Given the description of an element on the screen output the (x, y) to click on. 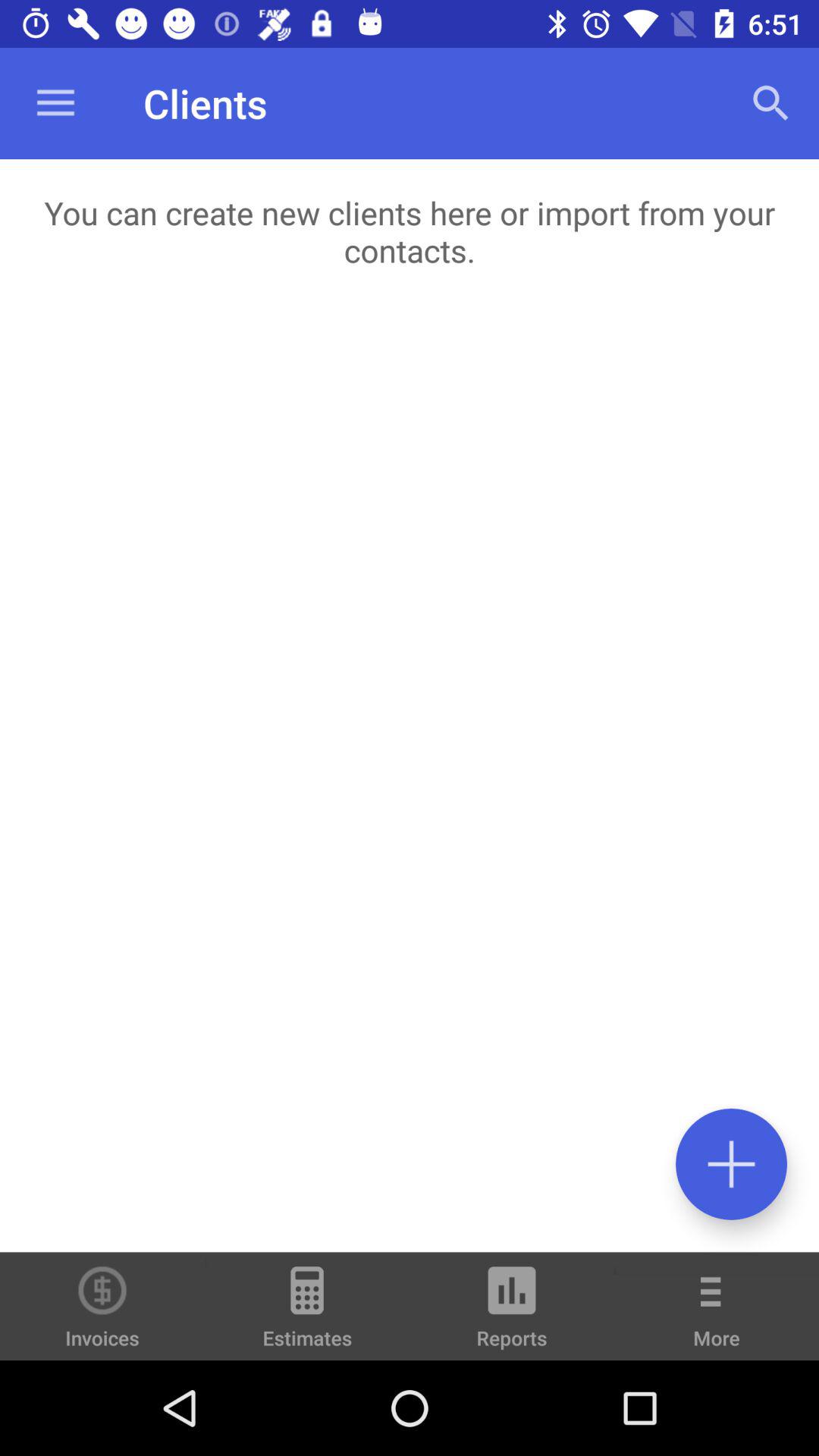
flip to estimates item (306, 1313)
